Given the description of an element on the screen output the (x, y) to click on. 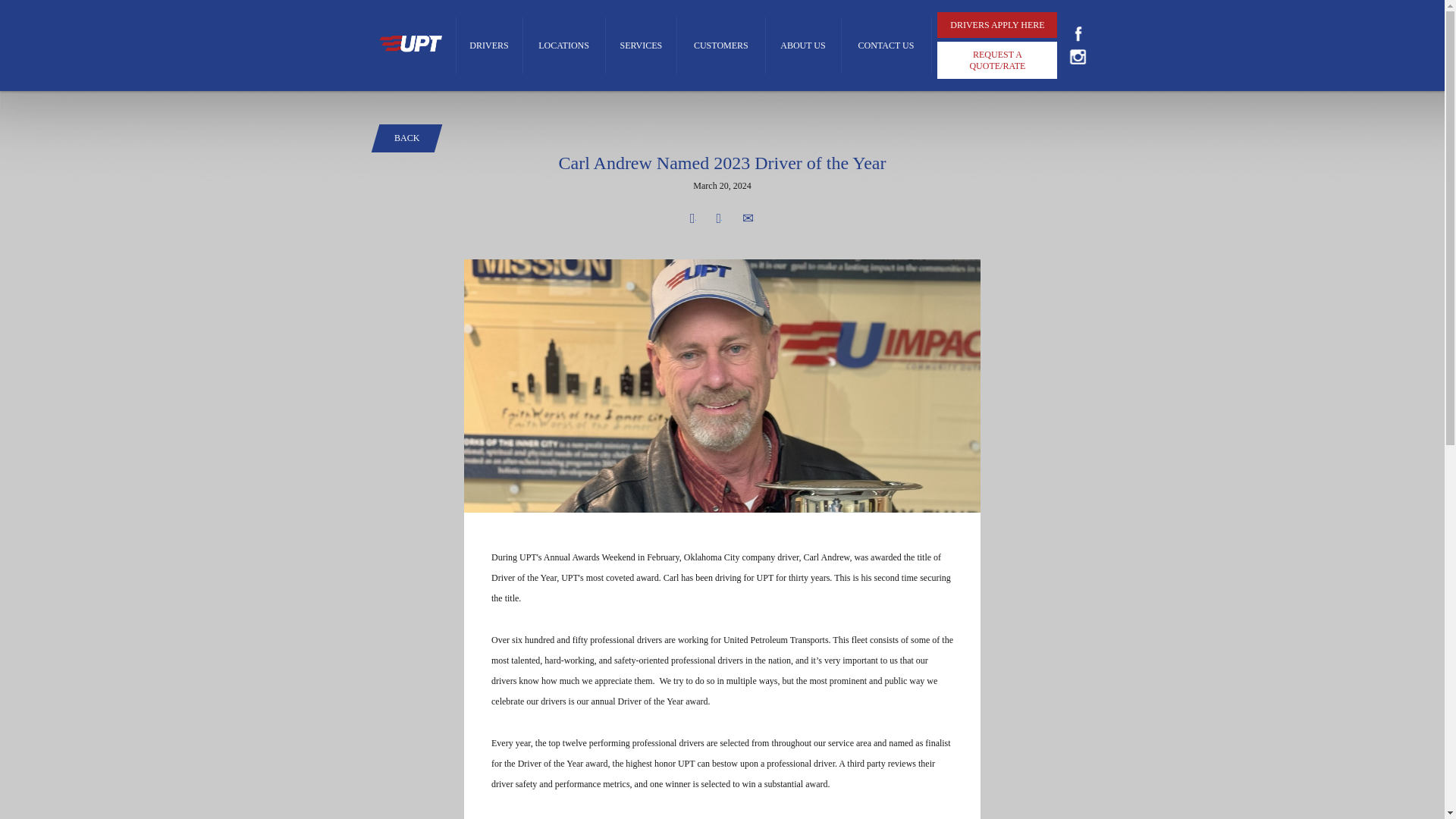
CUSTOMERS (721, 45)
LOCATIONS (563, 45)
SERVICES (641, 45)
BACK (406, 138)
DRIVERS APPLY HERE (997, 24)
Home (410, 45)
Inst (1078, 56)
CONTACT US (886, 45)
ABOUT US (802, 45)
